Given the description of an element on the screen output the (x, y) to click on. 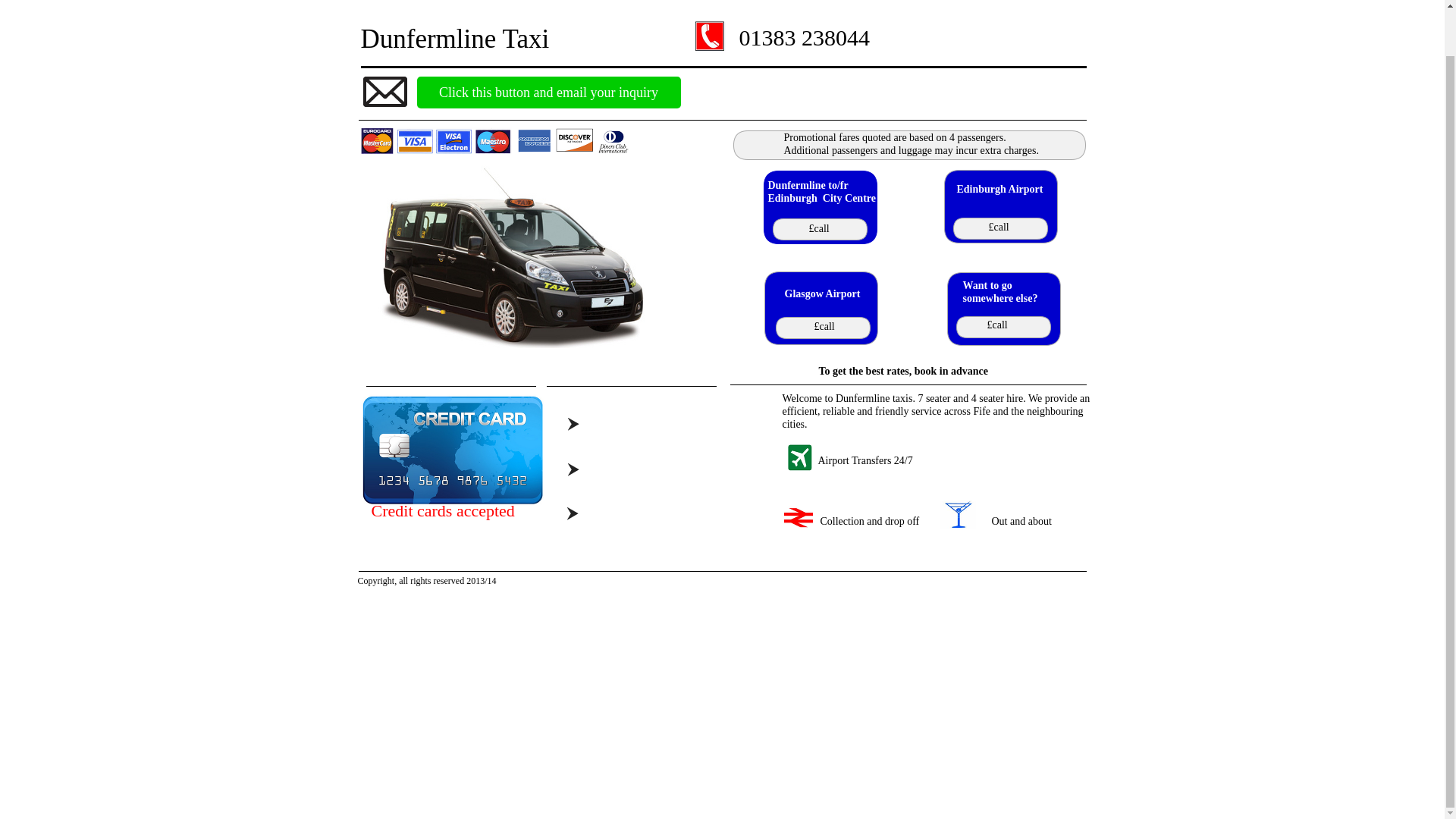
Embedded Content (471, 716)
Click this button and email your inquiry (548, 92)
Embedded Content (496, 210)
01383 238044 (803, 37)
Embedded Content (517, 716)
